Given the description of an element on the screen output the (x, y) to click on. 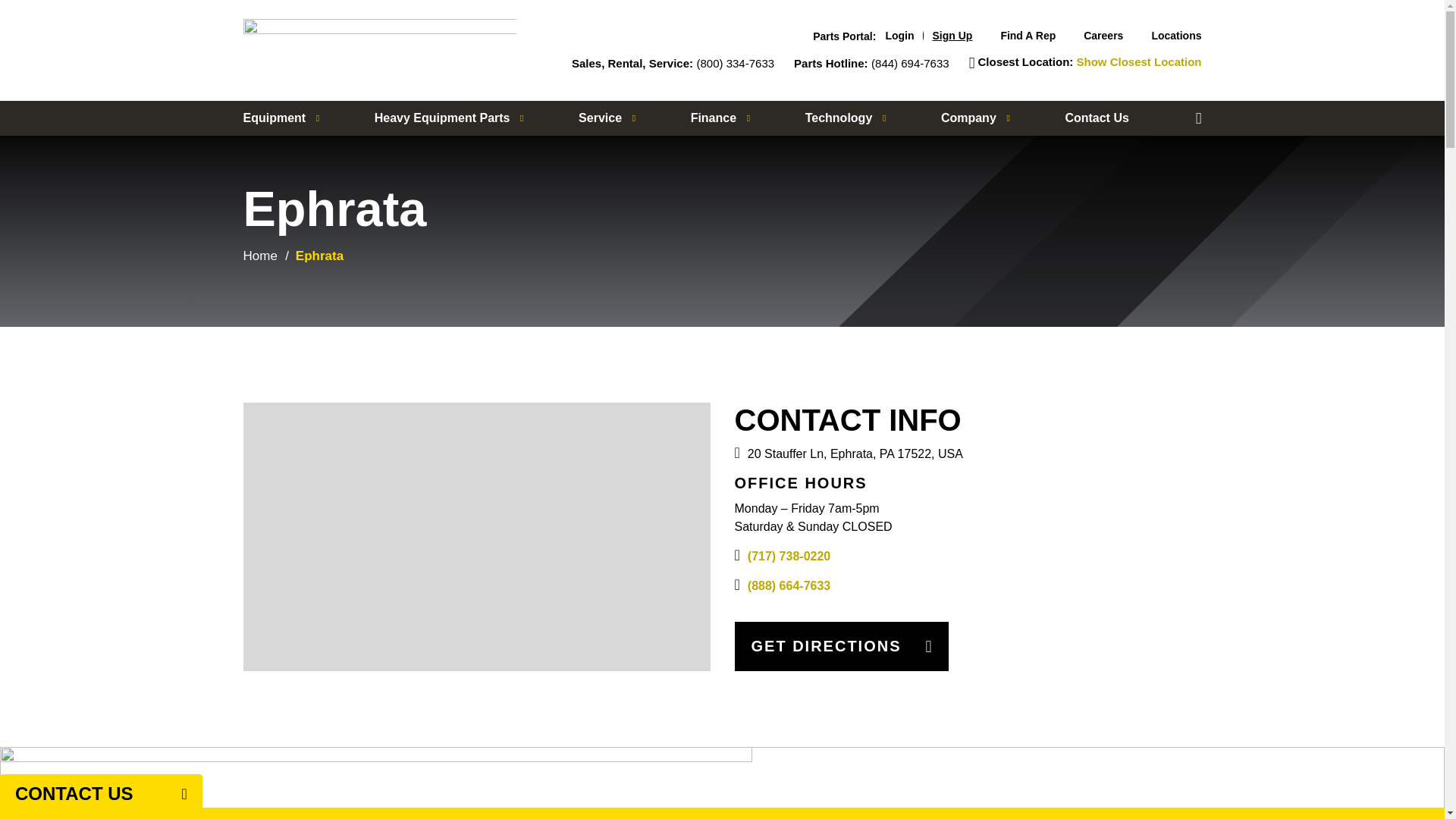
Equipment (280, 117)
Find A Rep (1027, 35)
Sign Up (951, 35)
Show Closest Location (1138, 62)
Locations (1176, 35)
Careers (1102, 35)
Login (899, 35)
